Given the description of an element on the screen output the (x, y) to click on. 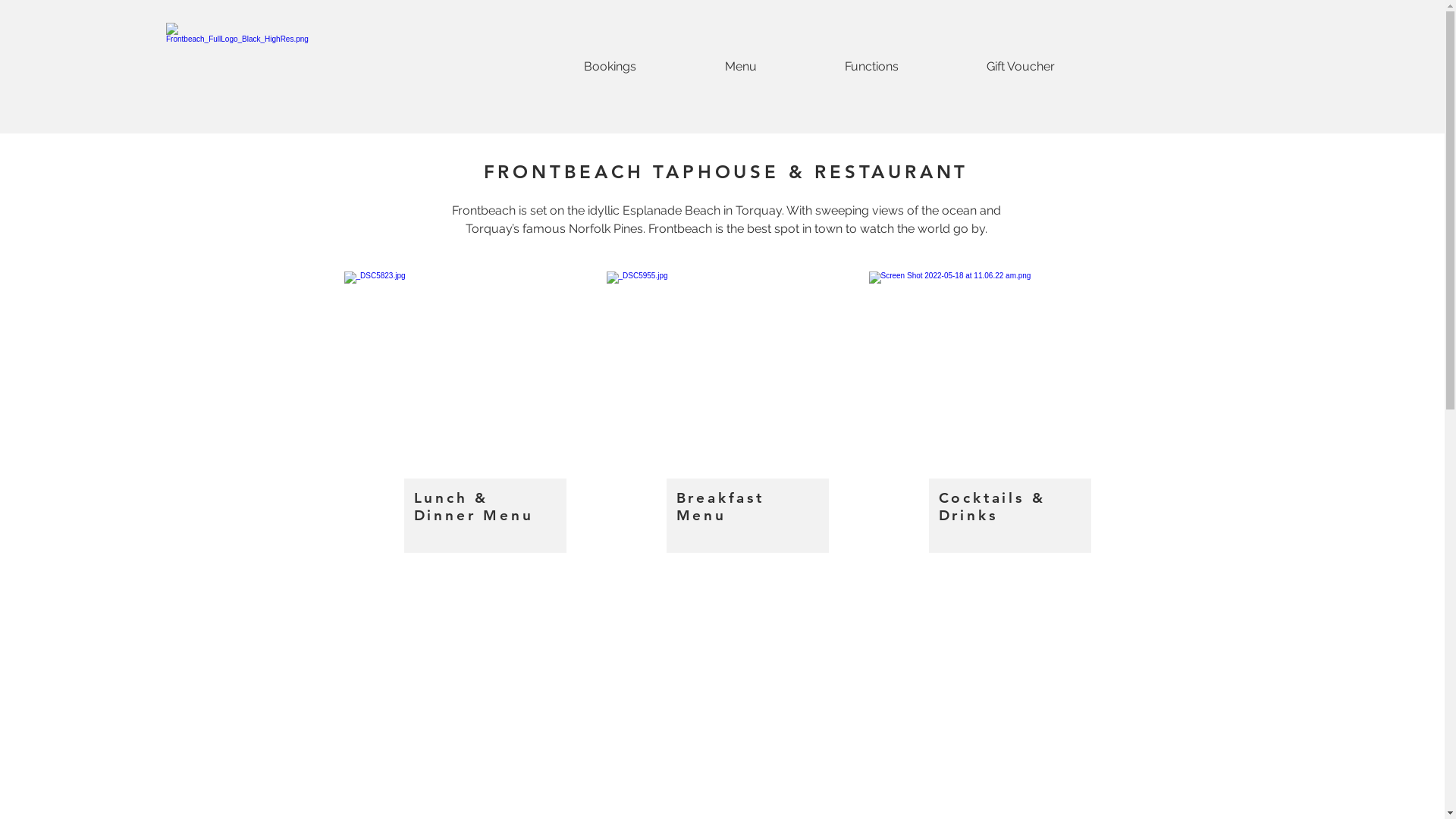
Functions Element type: text (871, 66)
Menu Element type: text (740, 66)
Gift Voucher Element type: text (1020, 66)
Bookings Element type: text (609, 66)
